Given the description of an element on the screen output the (x, y) to click on. 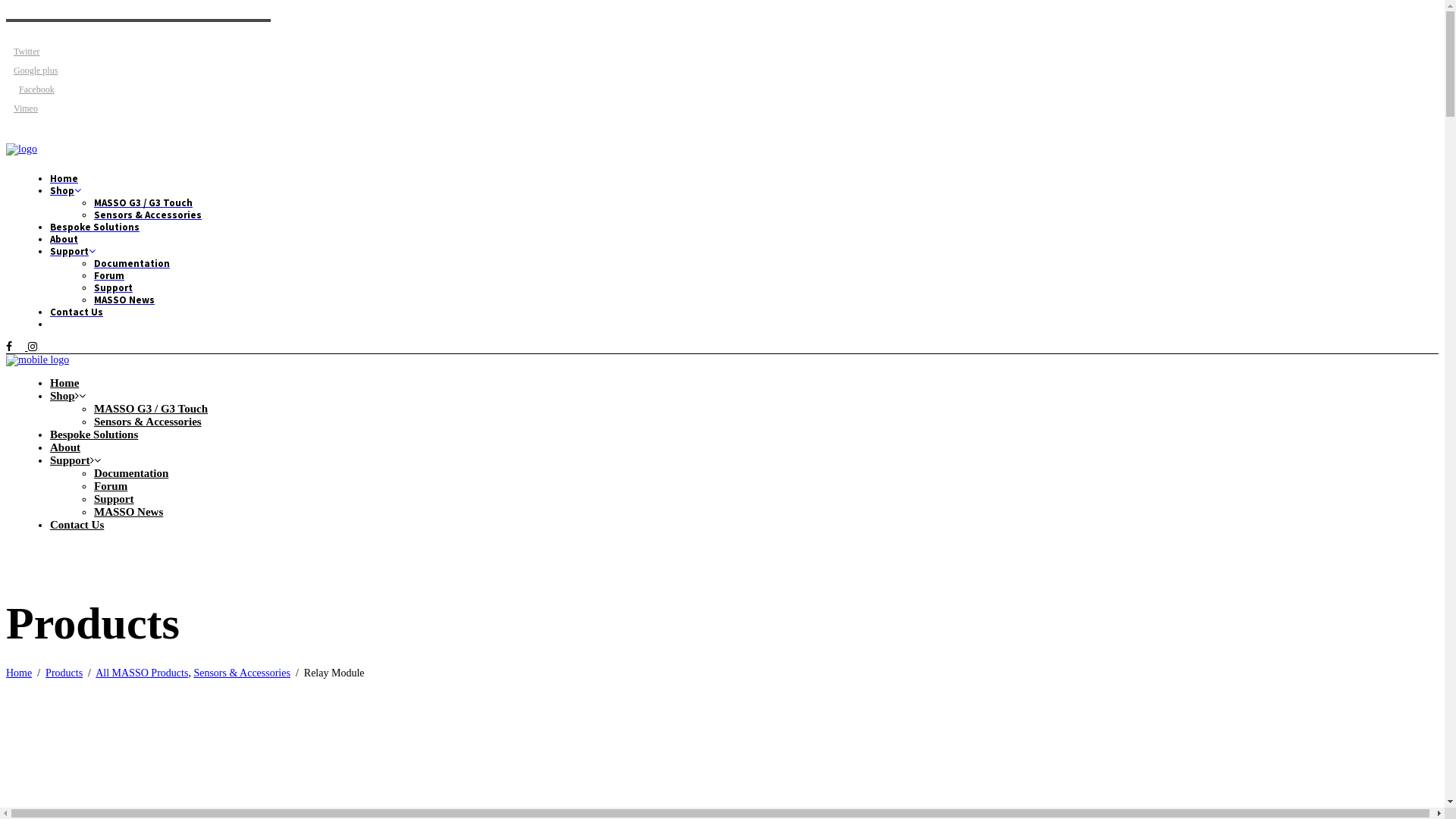
Vimeo Element type: text (21, 107)
MASSO G3 / G3 Touch Element type: text (143, 202)
About Element type: text (65, 447)
MASSO News Element type: text (124, 299)
Home Element type: text (18, 672)
Google plus Element type: text (31, 69)
Twitter Element type: text (22, 50)
About Element type: text (64, 238)
All MASSO Products Element type: text (141, 672)
Sensors & Accessories Element type: text (147, 421)
Forum Element type: text (110, 486)
Home Element type: text (64, 178)
Contact Us Element type: text (76, 311)
MASSO News Element type: text (128, 511)
Contact Us Element type: text (76, 524)
Bespoke Solutions Element type: text (94, 434)
Support Element type: text (113, 287)
Home Element type: text (64, 382)
Bespoke Solutions Element type: text (94, 226)
Sensors & Accessories Element type: text (241, 672)
Support Element type: text (70, 460)
Documentation Element type: text (131, 263)
Shop Element type: text (62, 395)
Facebook Element type: text (30, 88)
Support Element type: text (72, 251)
Products Element type: text (63, 672)
Support Element type: text (114, 498)
MASSO G3 / G3 Touch Element type: text (150, 408)
Sensors & Accessories Element type: text (147, 214)
Shop Element type: text (65, 190)
Forum Element type: text (109, 275)
Documentation Element type: text (131, 473)
